Given the description of an element on the screen output the (x, y) to click on. 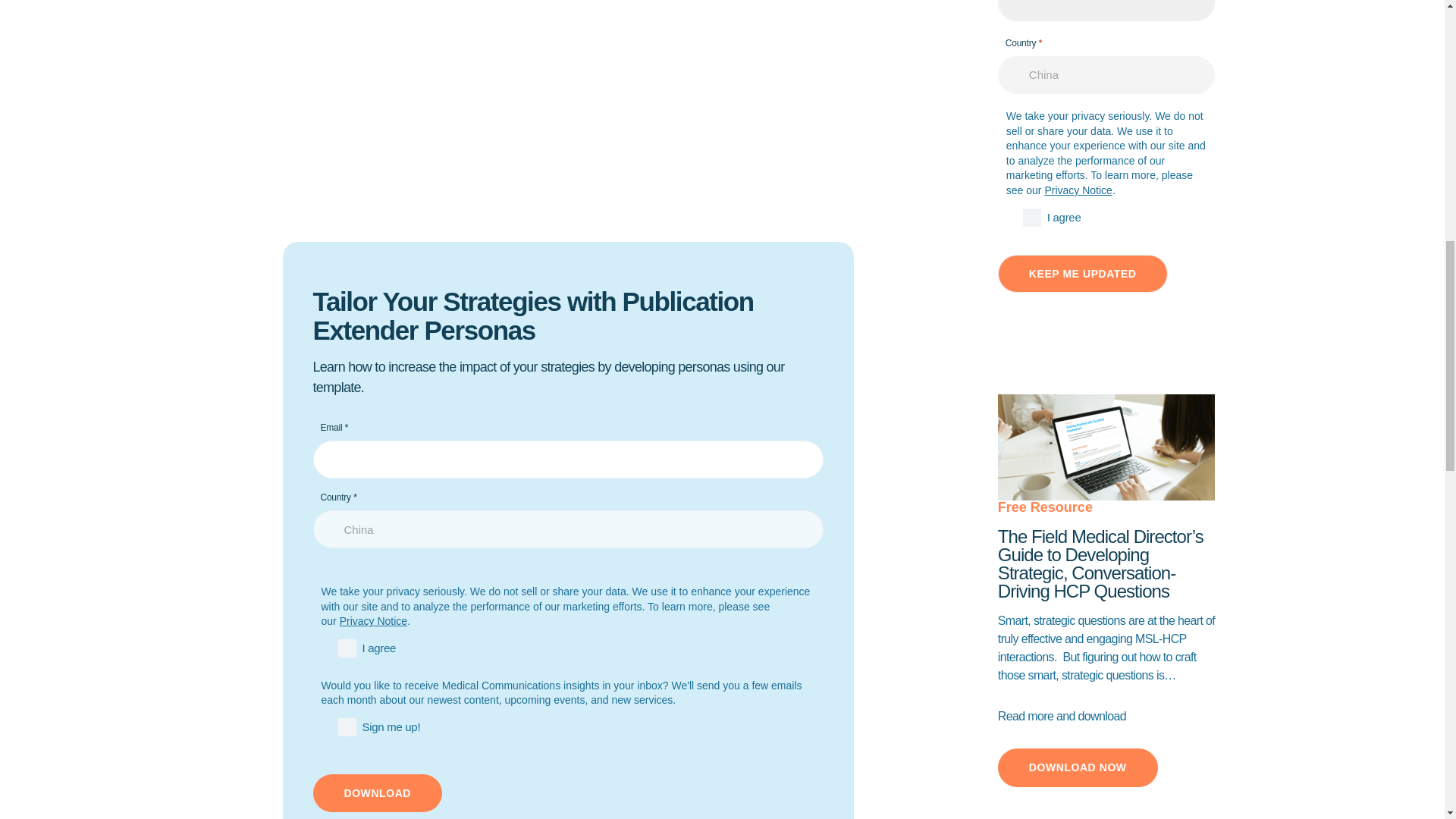
Privacy Notice (1077, 190)
Privacy Notice (373, 621)
Keep me updated (1082, 273)
Download (377, 792)
Download (377, 792)
Keep me updated (1082, 273)
DOWNLOAD NOW (1077, 767)
